Given the description of an element on the screen output the (x, y) to click on. 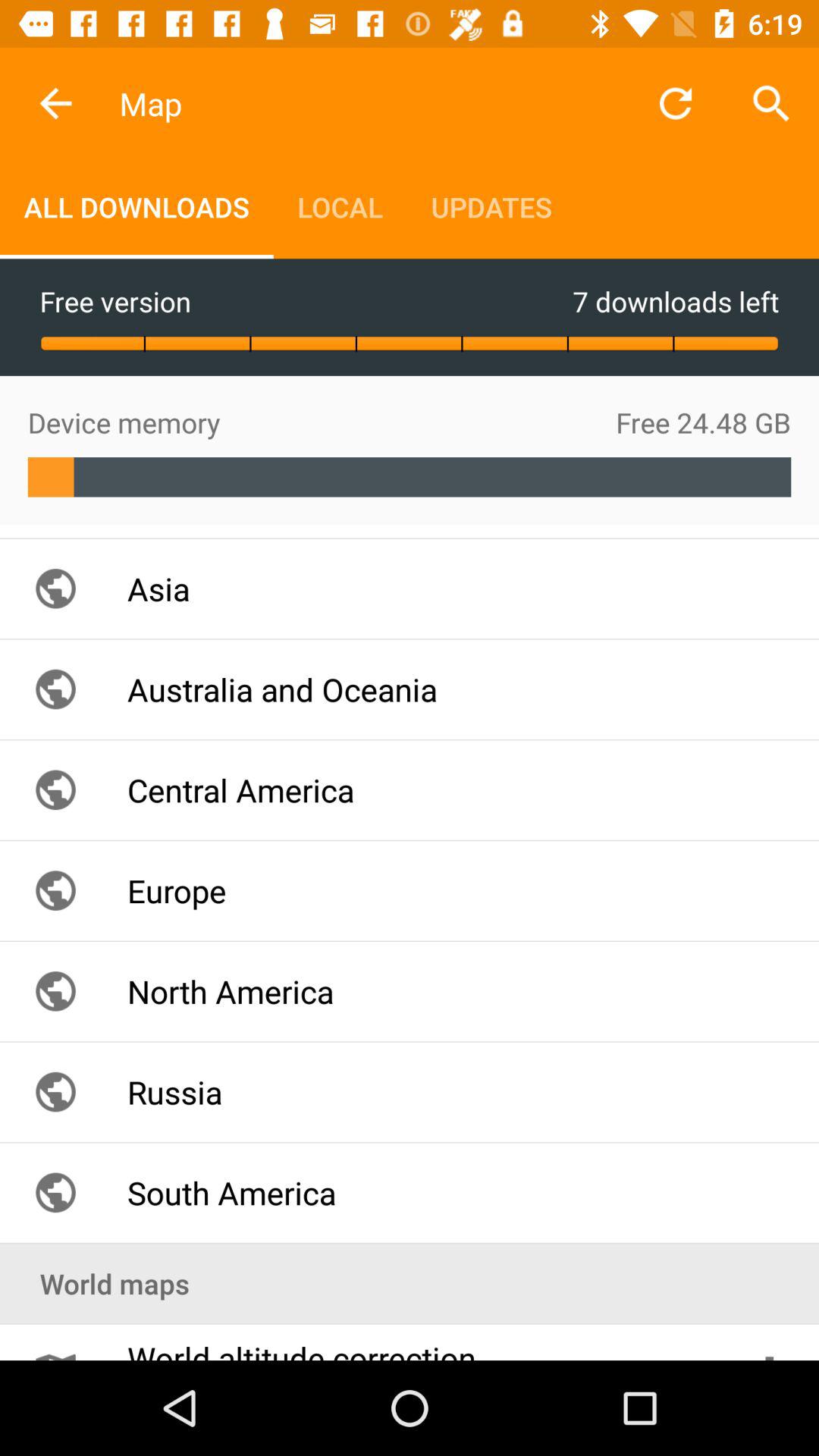
scroll until updates item (491, 206)
